Given the description of an element on the screen output the (x, y) to click on. 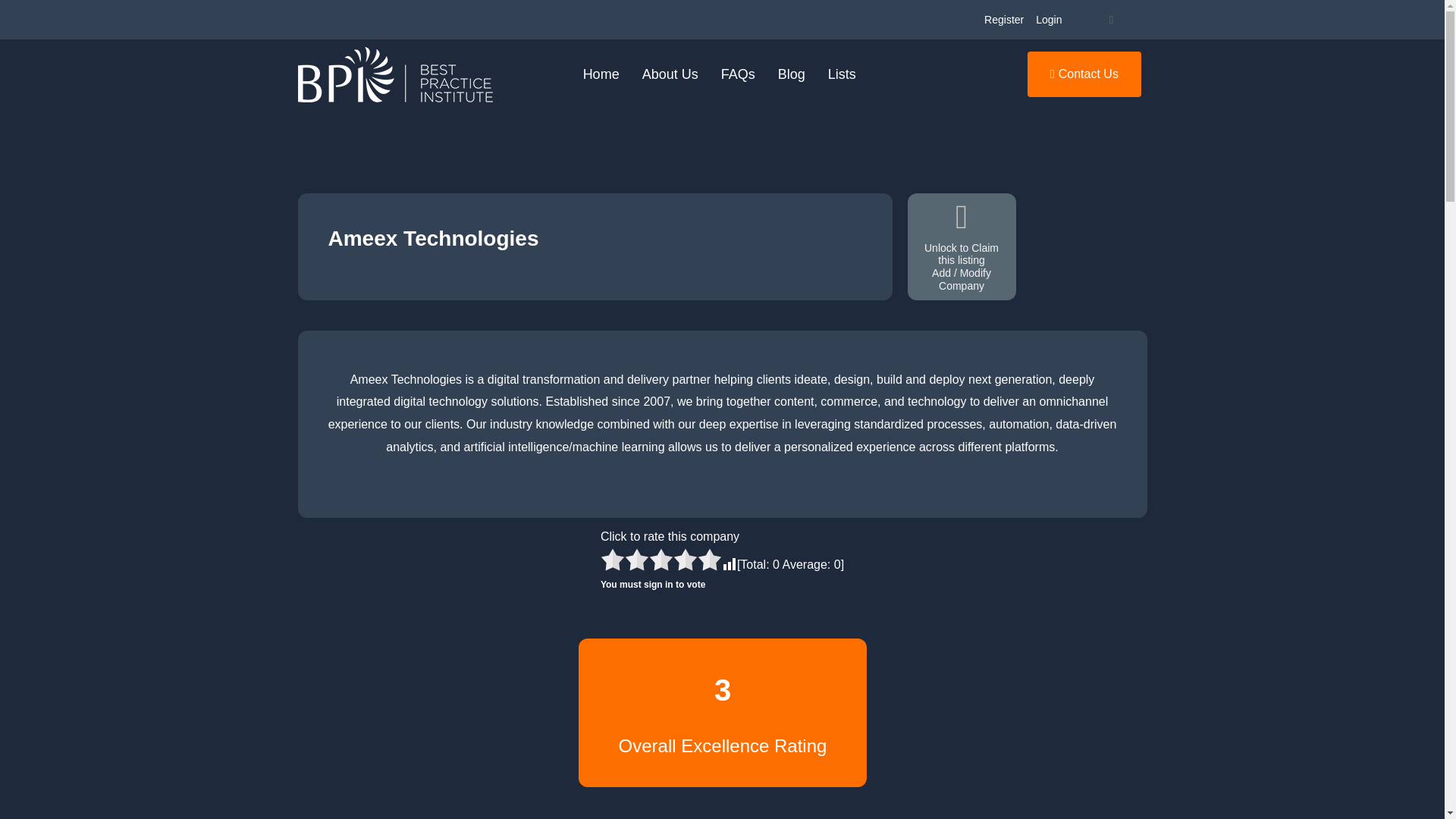
About Us (670, 74)
Cart (1110, 19)
Register (1003, 19)
Blog (791, 74)
Lists (841, 74)
FAQs (738, 74)
Login (1048, 19)
Contact Us (1084, 74)
Home (601, 74)
